Given the description of an element on the screen output the (x, y) to click on. 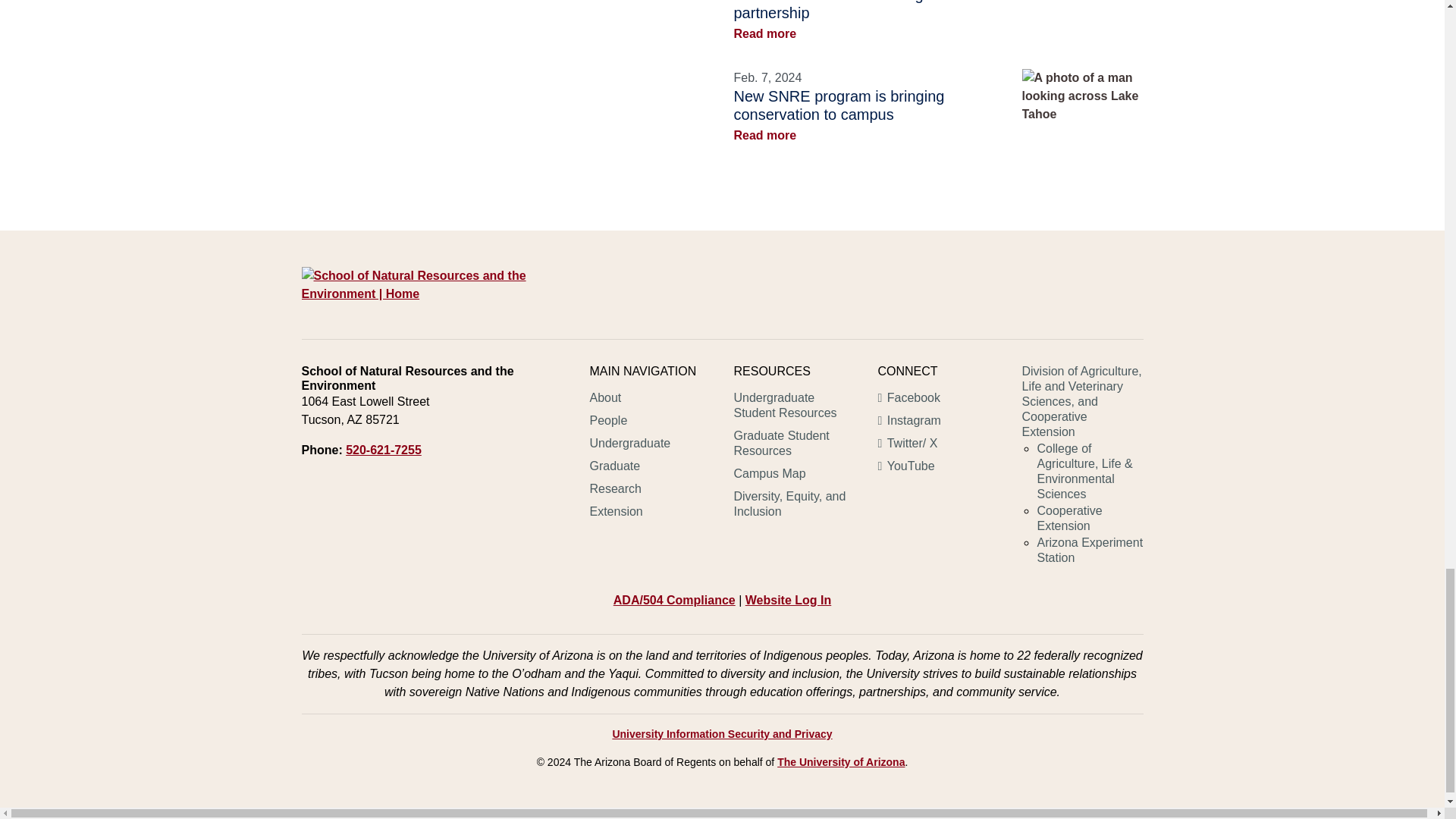
Lake Tahoe (1082, 95)
